Given the description of an element on the screen output the (x, y) to click on. 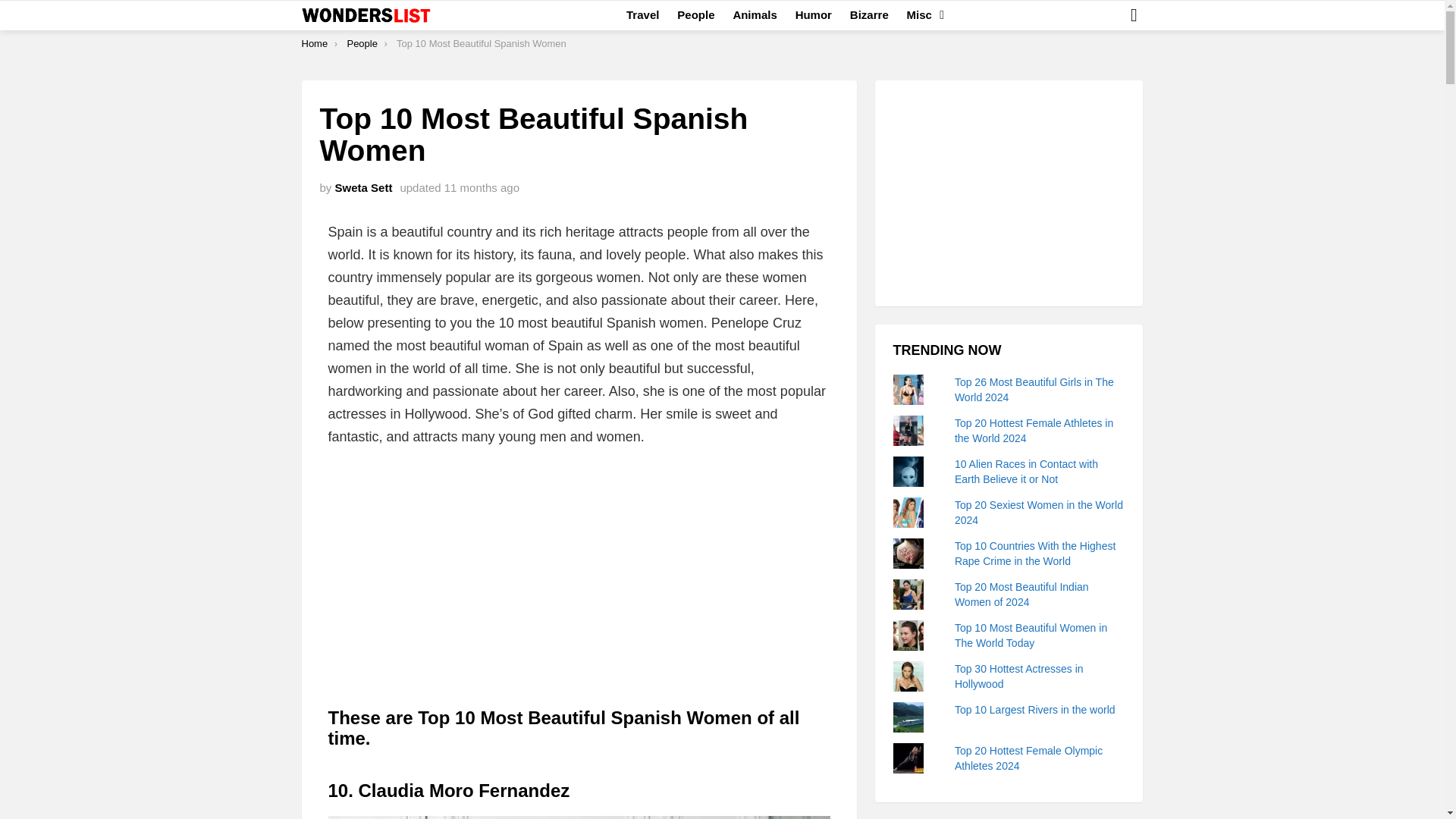
People (361, 43)
Home (315, 43)
Misc (921, 15)
Travel (642, 15)
Sweta Sett (363, 187)
September 20, 2023, 9:35 pm (481, 187)
Bizarre (869, 15)
Humor (813, 15)
Animals (754, 15)
Posts by Sweta Sett (363, 187)
